Given the description of an element on the screen output the (x, y) to click on. 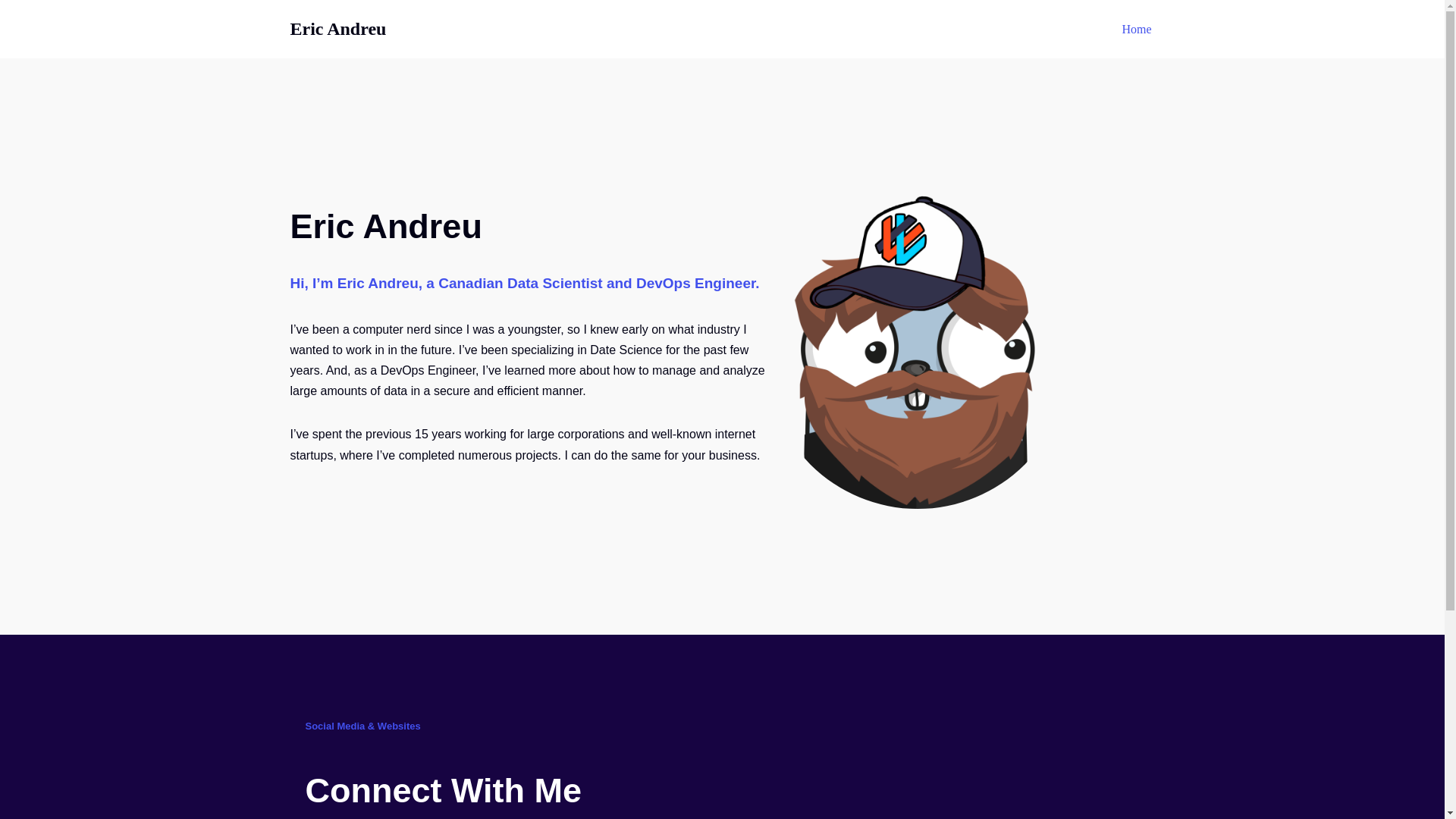
Eric Andreu (337, 29)
Skip to content (11, 31)
Home (1136, 28)
